Given the description of an element on the screen output the (x, y) to click on. 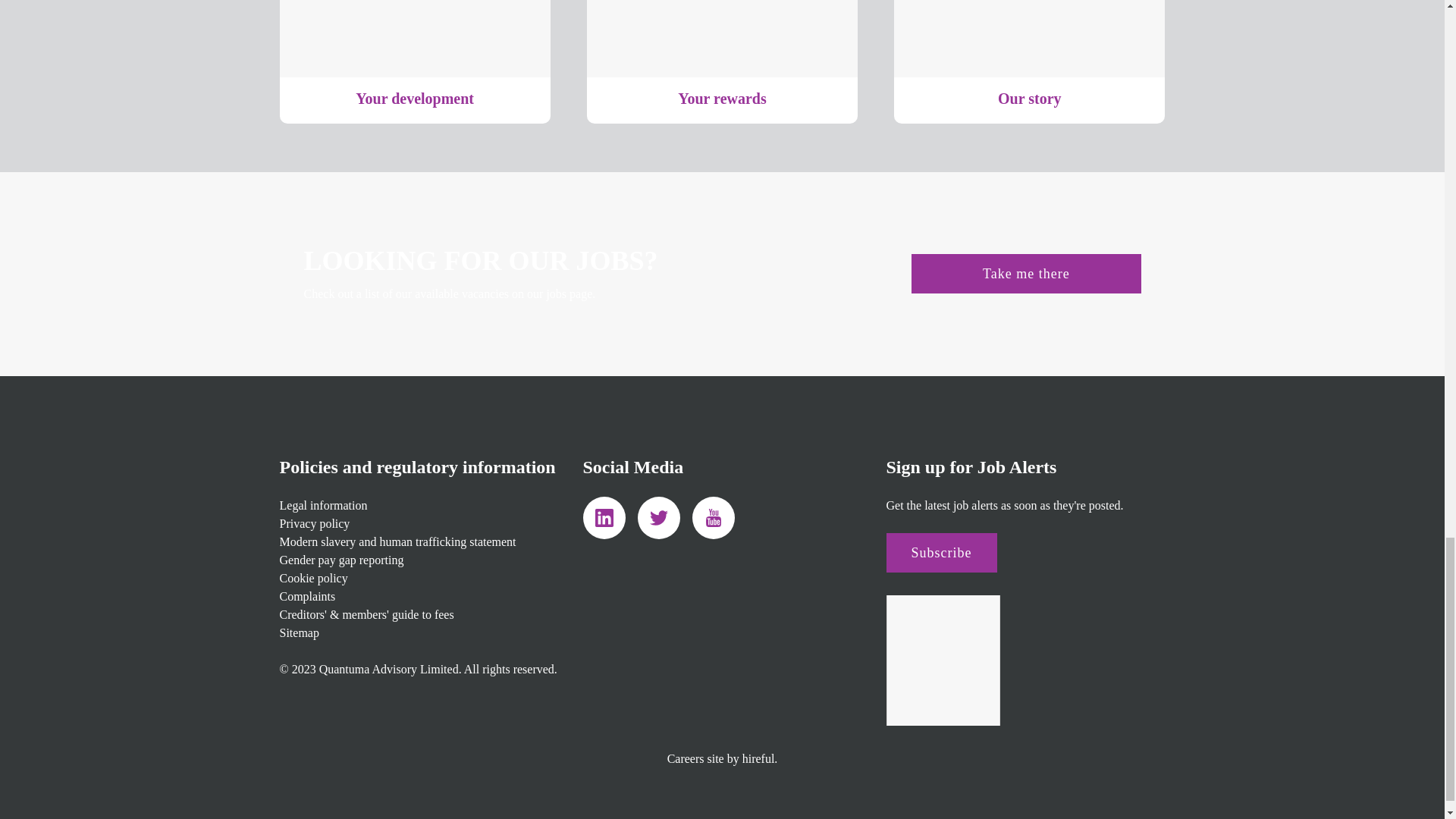
Subscribe (940, 552)
Your rewards (721, 61)
Our story (1028, 61)
Sitemap (298, 632)
Modern slavery and human trafficking statement (397, 541)
Your development (414, 61)
Gender pay gap reporting (341, 559)
hireful (758, 758)
Take me there (1025, 273)
Privacy policy (314, 522)
